Given the description of an element on the screen output the (x, y) to click on. 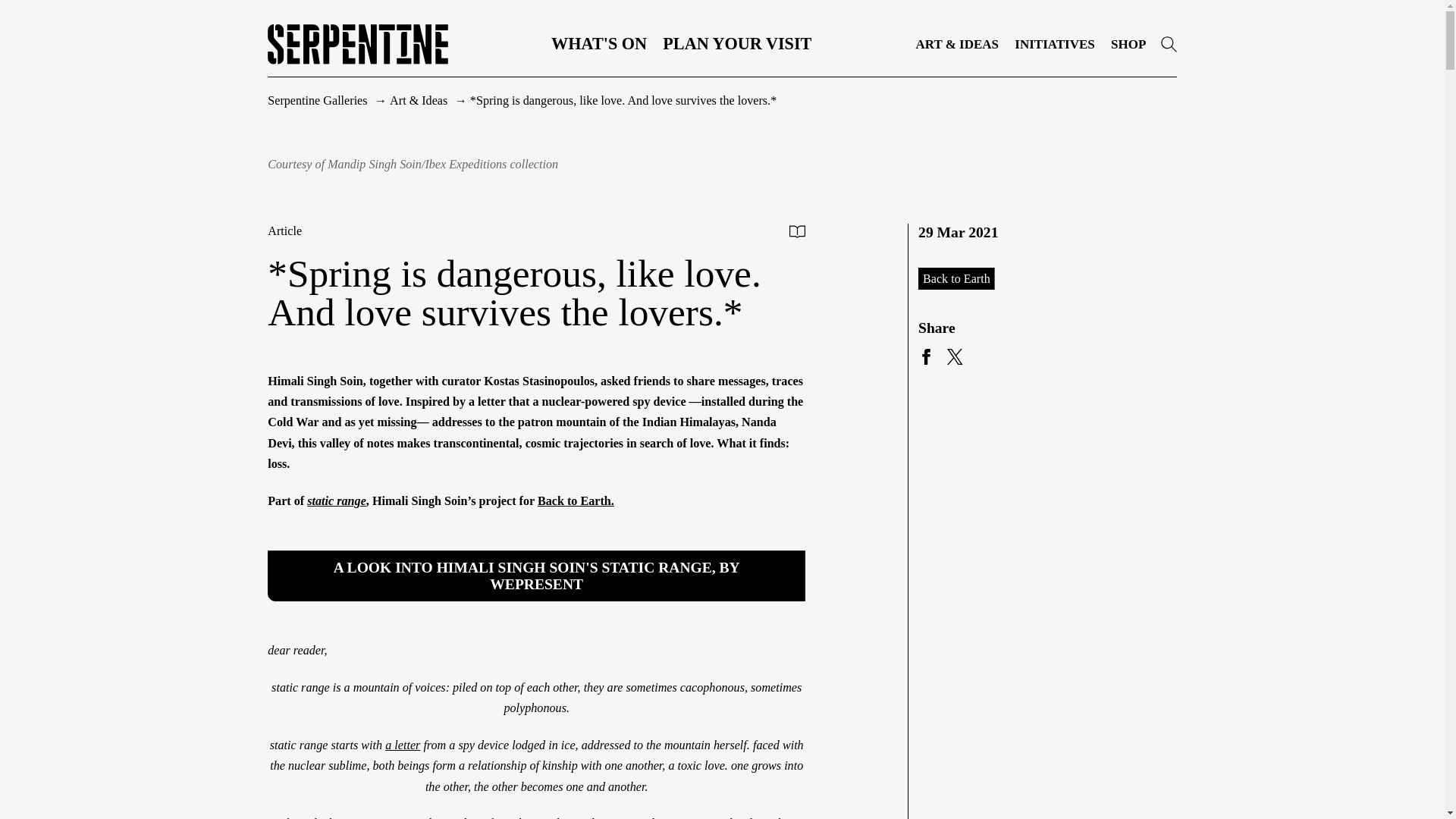
SHOP (1127, 43)
static range (336, 500)
Share on Twitter (954, 356)
Back to Earth (956, 278)
INITIATIVES (1054, 43)
PLAN YOUR VISIT (736, 43)
Share on Facebook (926, 356)
Serpentine Galleries (318, 100)
Go to Serpentine Galleries. (318, 100)
a letter (402, 744)
Serpentine Galleries (1168, 43)
Back to Earth. (575, 500)
WHAT'S ON (598, 43)
Article (284, 230)
